Given the description of an element on the screen output the (x, y) to click on. 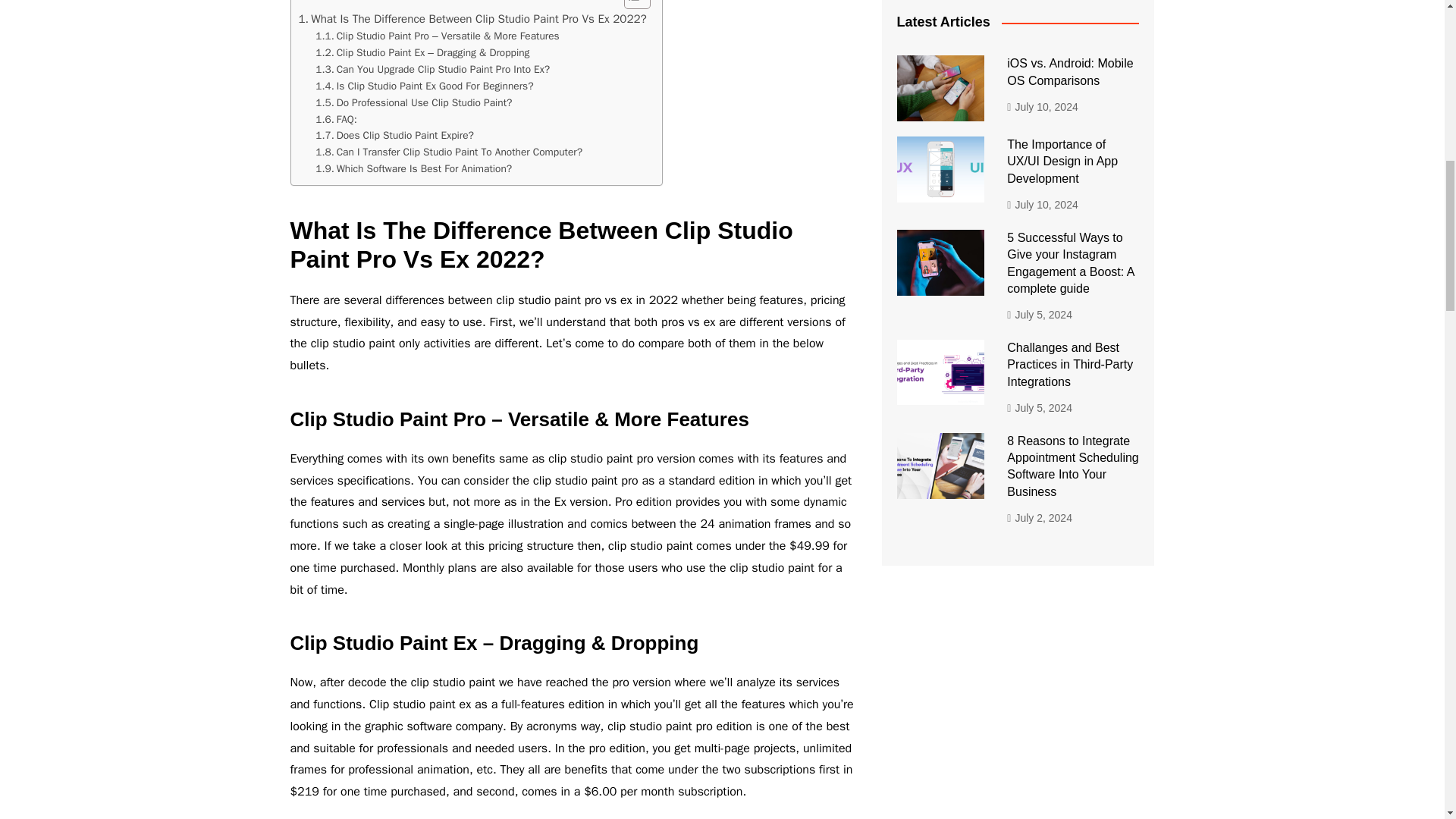
Can I Transfer Clip Studio Paint To Another Computer? (448, 152)
FAQ: (335, 119)
Do Professional Use Clip Studio Paint? (413, 103)
Is Clip Studio Paint Ex Good For Beginners? (423, 86)
Which Software Is Best For Animation? (413, 168)
Can You Upgrade Clip Studio Paint Pro Into Ex? (432, 69)
Does Clip Studio Paint Expire? (394, 135)
